Given the description of an element on the screen output the (x, y) to click on. 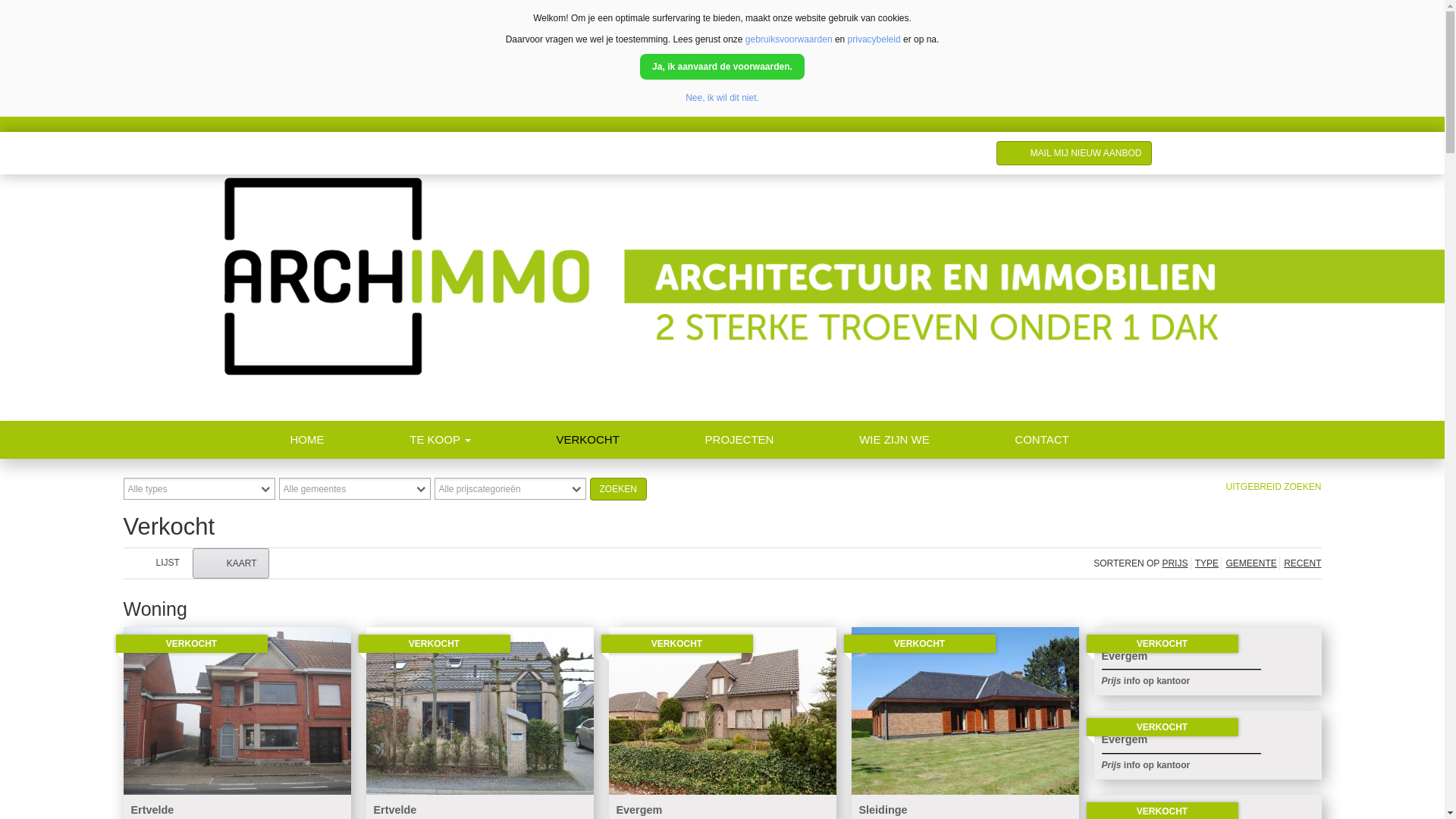
GEMEENTE Element type: text (1248, 563)
CONTACT Element type: text (1084, 439)
privacybeleid Element type: text (873, 39)
PRIJS Element type: text (1174, 563)
Ja, ik aanvaard de voorwaarden. Element type: text (722, 66)
WIE ZIJN WE Element type: text (936, 439)
KAART Element type: text (230, 563)
UITGEBREID ZOEKEN Element type: text (1273, 486)
RECENT Element type: text (1300, 563)
LIJST Element type: text (156, 562)
PROJECTEN Element type: text (782, 439)
TE KOOP Element type: text (482, 439)
gebruiksvoorwaarden Element type: text (788, 39)
Nee, ik wil dit niet. Element type: text (722, 97)
VERKOCHT Element type: text (630, 439)
MAIL MIJ NIEUW AANBOD Element type: text (1073, 153)
Zoeken Element type: text (617, 488)
HOME Element type: text (349, 439)
TYPE Element type: text (1204, 563)
